Given the description of an element on the screen output the (x, y) to click on. 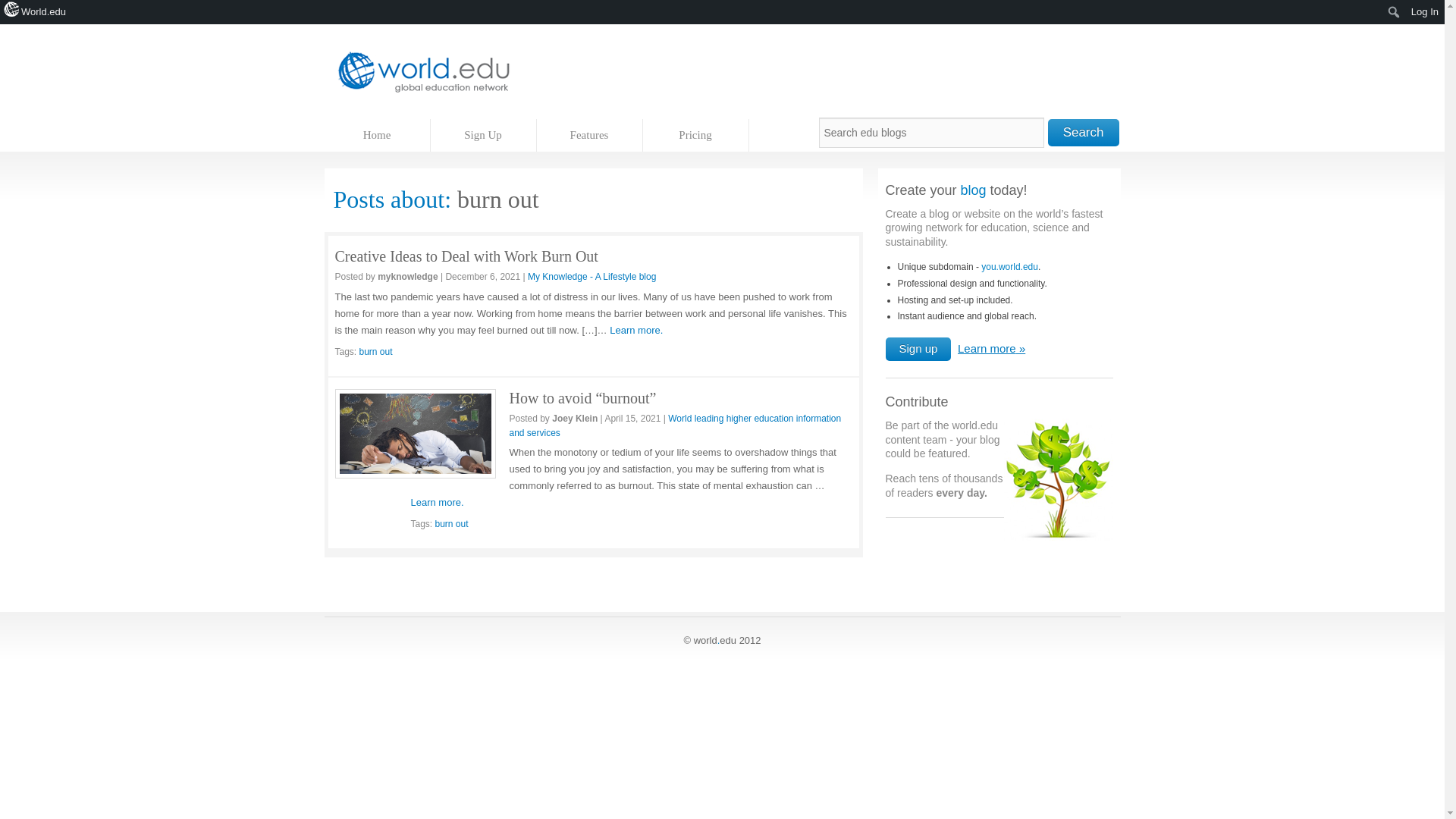
Search (16, 13)
burn out (376, 351)
My Knowledge - A Lifestyle blog (591, 276)
Pricing (696, 134)
Search (1083, 132)
World.edu (35, 12)
Home (377, 134)
Learn more. (636, 329)
Skip to content (357, 125)
Features (590, 134)
Sign Up (483, 134)
Sign up (918, 349)
burn out (451, 523)
Learn more. (437, 501)
Learn more (989, 348)
